Given the description of an element on the screen output the (x, y) to click on. 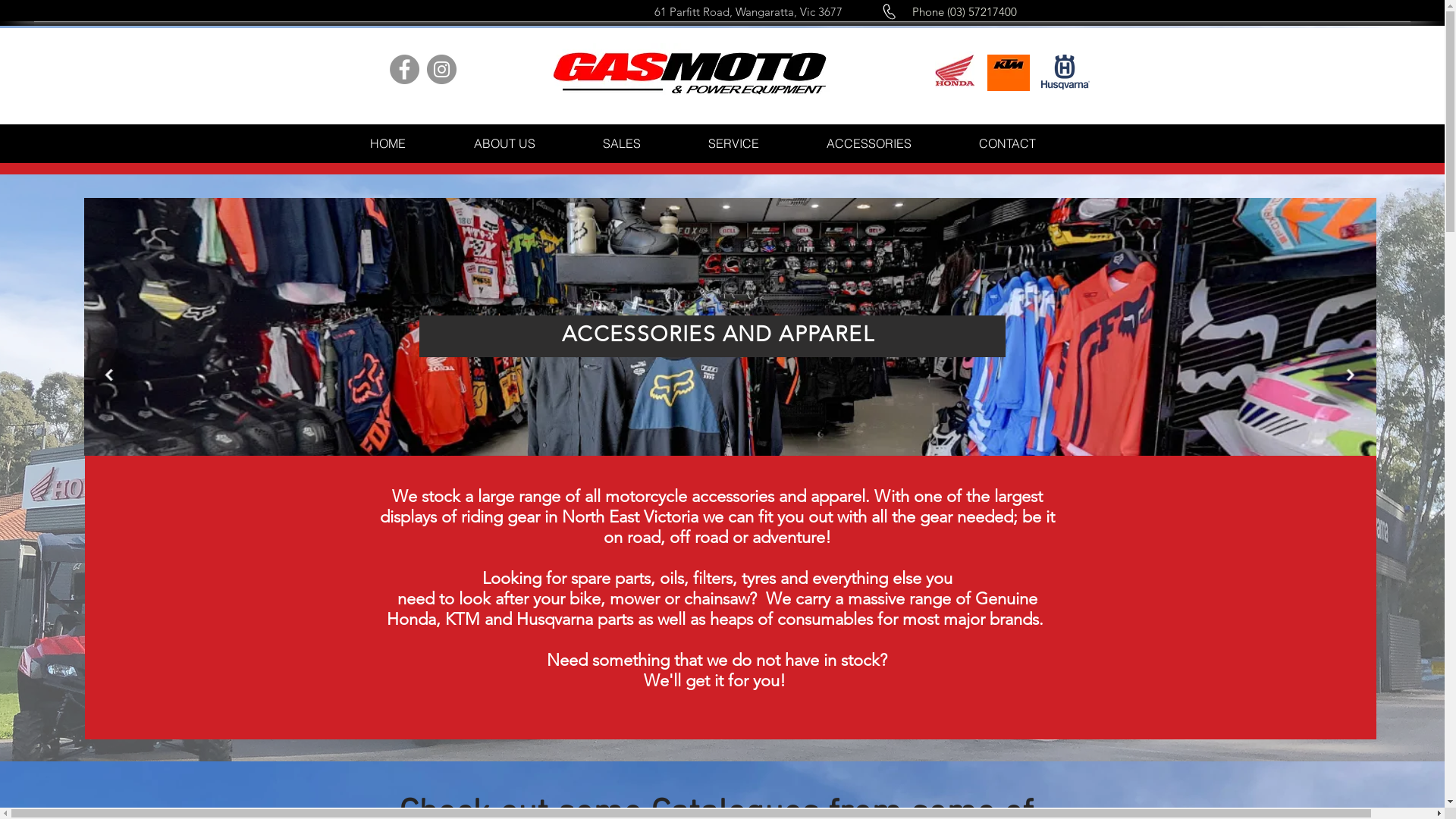
HOME Element type: text (387, 143)
CONTACT Element type: text (1006, 143)
SERVICE Element type: text (733, 143)
ACCESSORIES Element type: text (869, 143)
SALES Element type: text (621, 143)
ABOUT US Element type: text (504, 143)
